Given the description of an element on the screen output the (x, y) to click on. 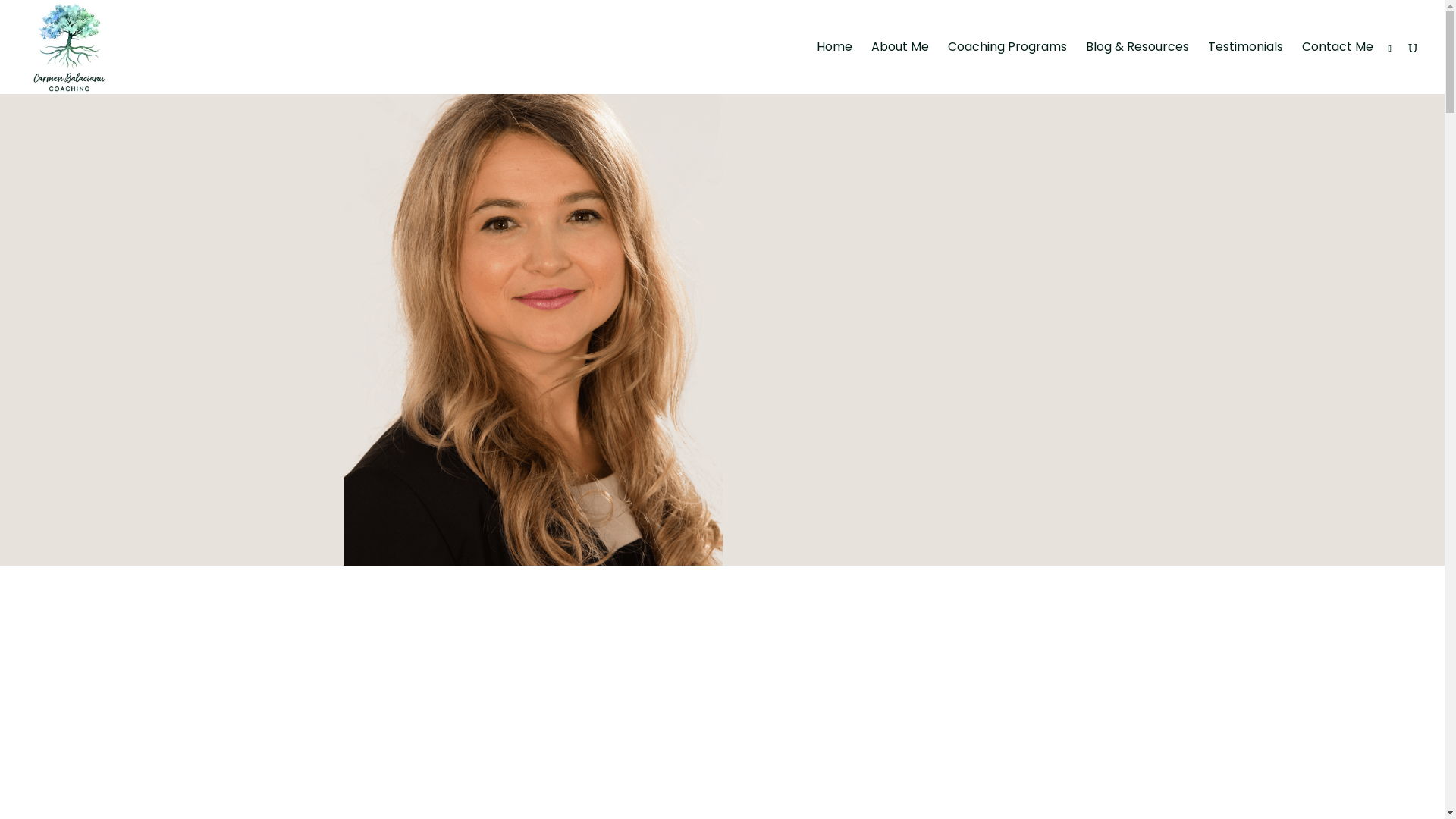
Coaching Programs Element type: text (1006, 67)
Testimonials Element type: text (1245, 67)
Home Element type: text (834, 67)
Blog & Resources Element type: text (1137, 67)
Contact Me Element type: text (1337, 67)
About Me Element type: text (899, 67)
